Given the description of an element on the screen output the (x, y) to click on. 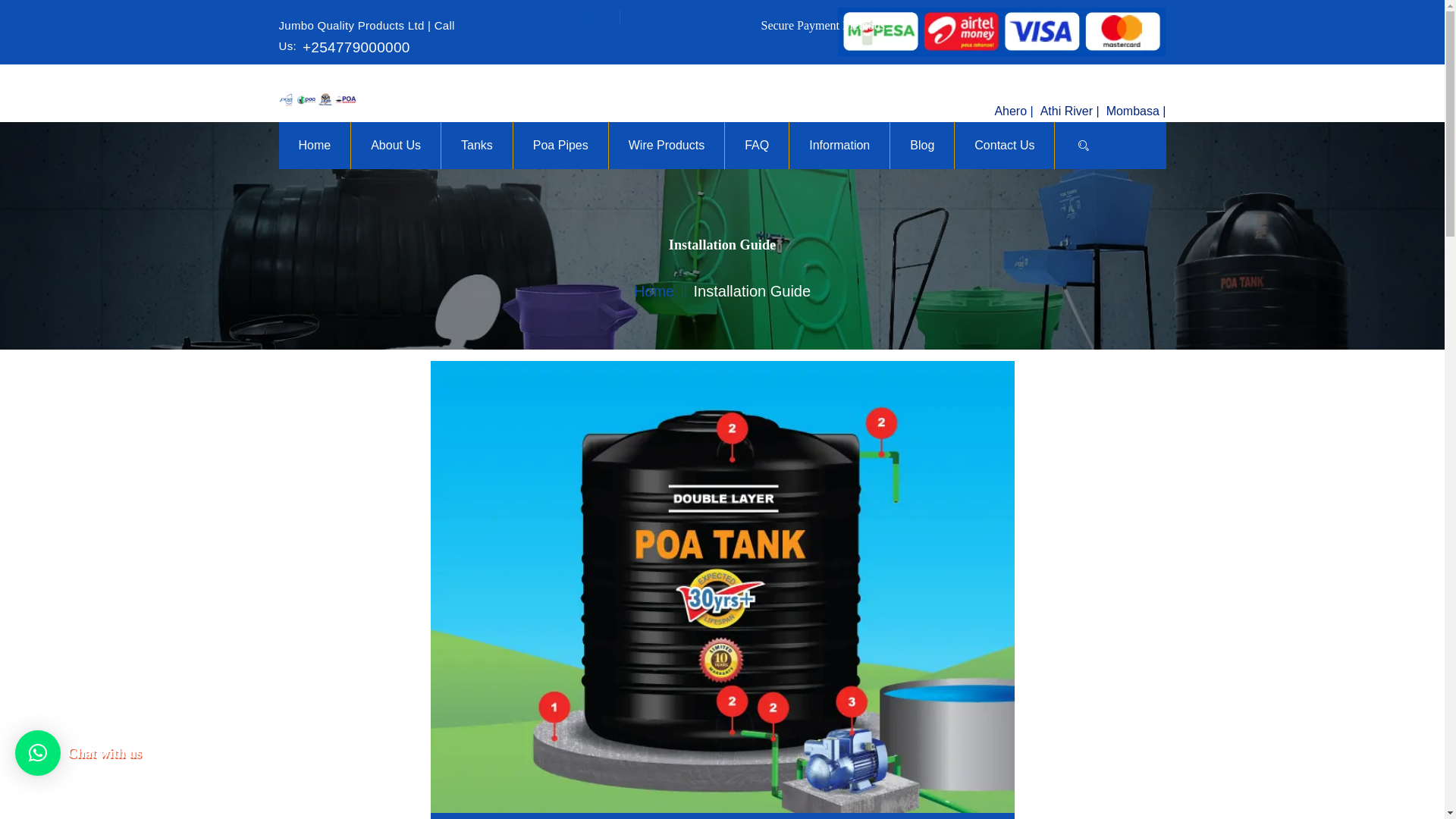
About Us (395, 144)
Poa Tanks (317, 100)
Information (839, 144)
Home (653, 290)
Blog (922, 144)
Poa Pipes (560, 144)
Home (314, 144)
FAQ (756, 144)
Secure Payment Methods: (699, 18)
Wire Products (666, 144)
Contact Us (1003, 144)
Tanks (477, 144)
